Given the description of an element on the screen output the (x, y) to click on. 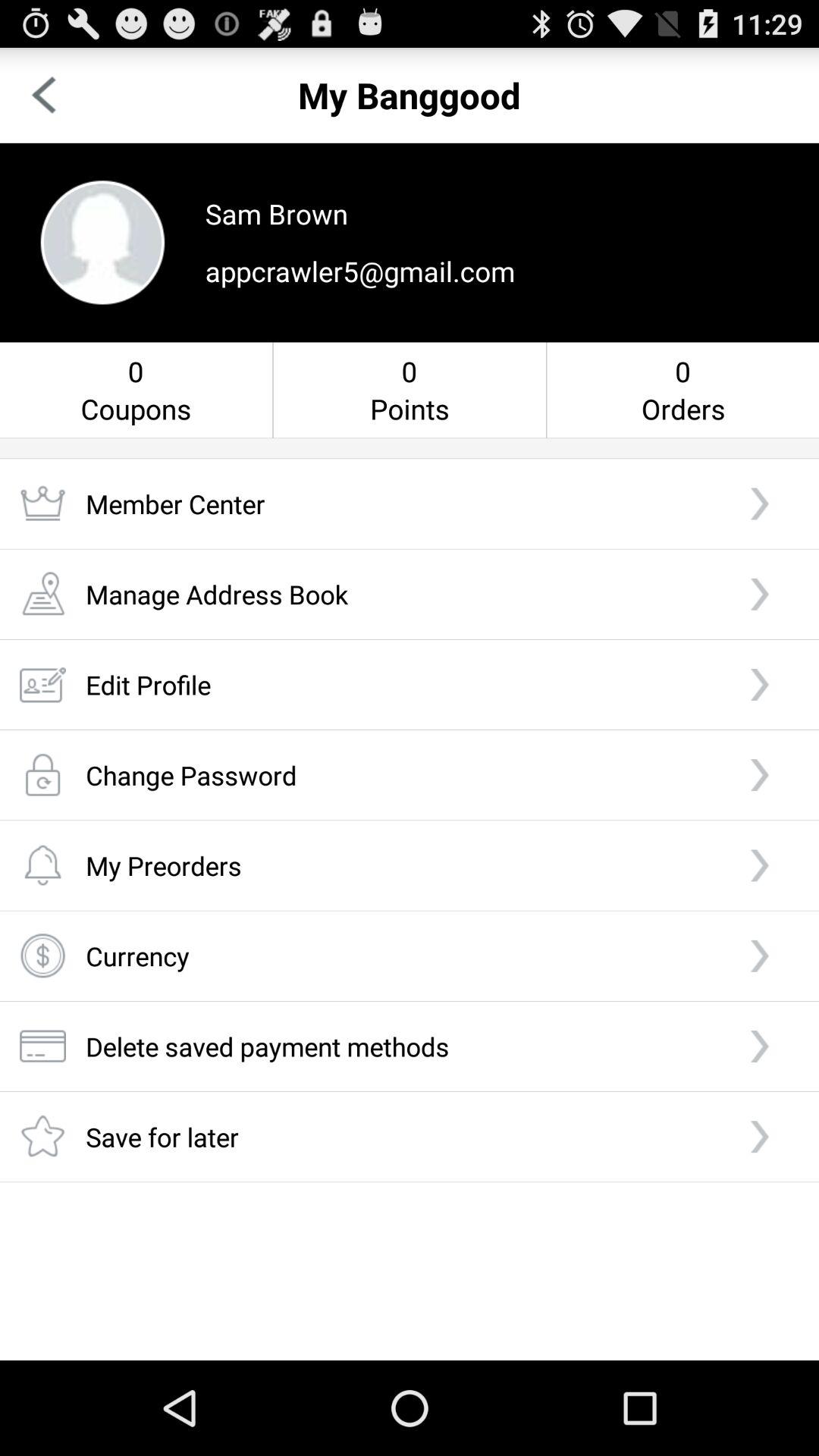
go to profile (102, 242)
